Given the description of an element on the screen output the (x, y) to click on. 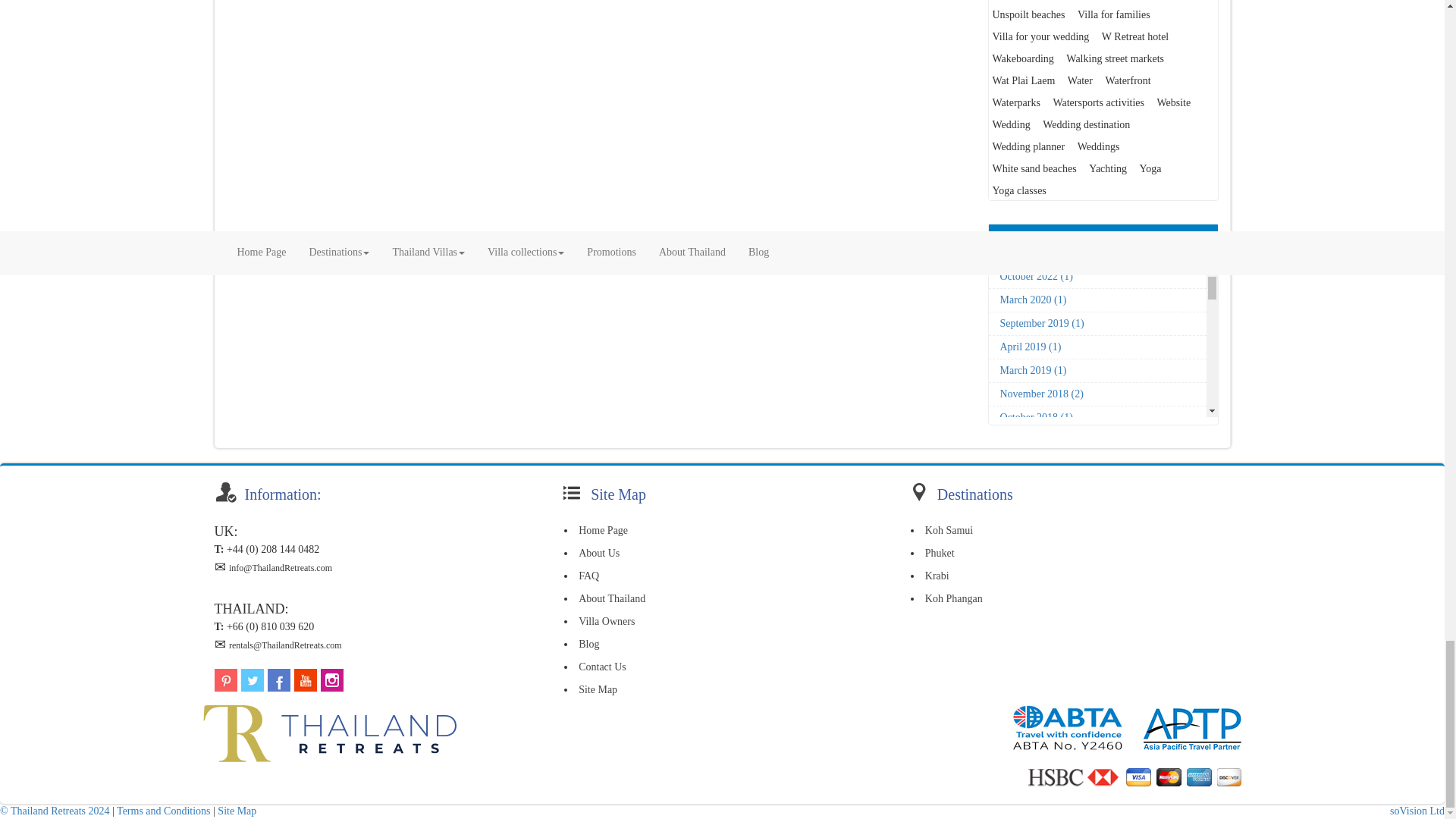
APTP Asia Pacific Travel Partner Thailand (1191, 728)
